Given the description of an element on the screen output the (x, y) to click on. 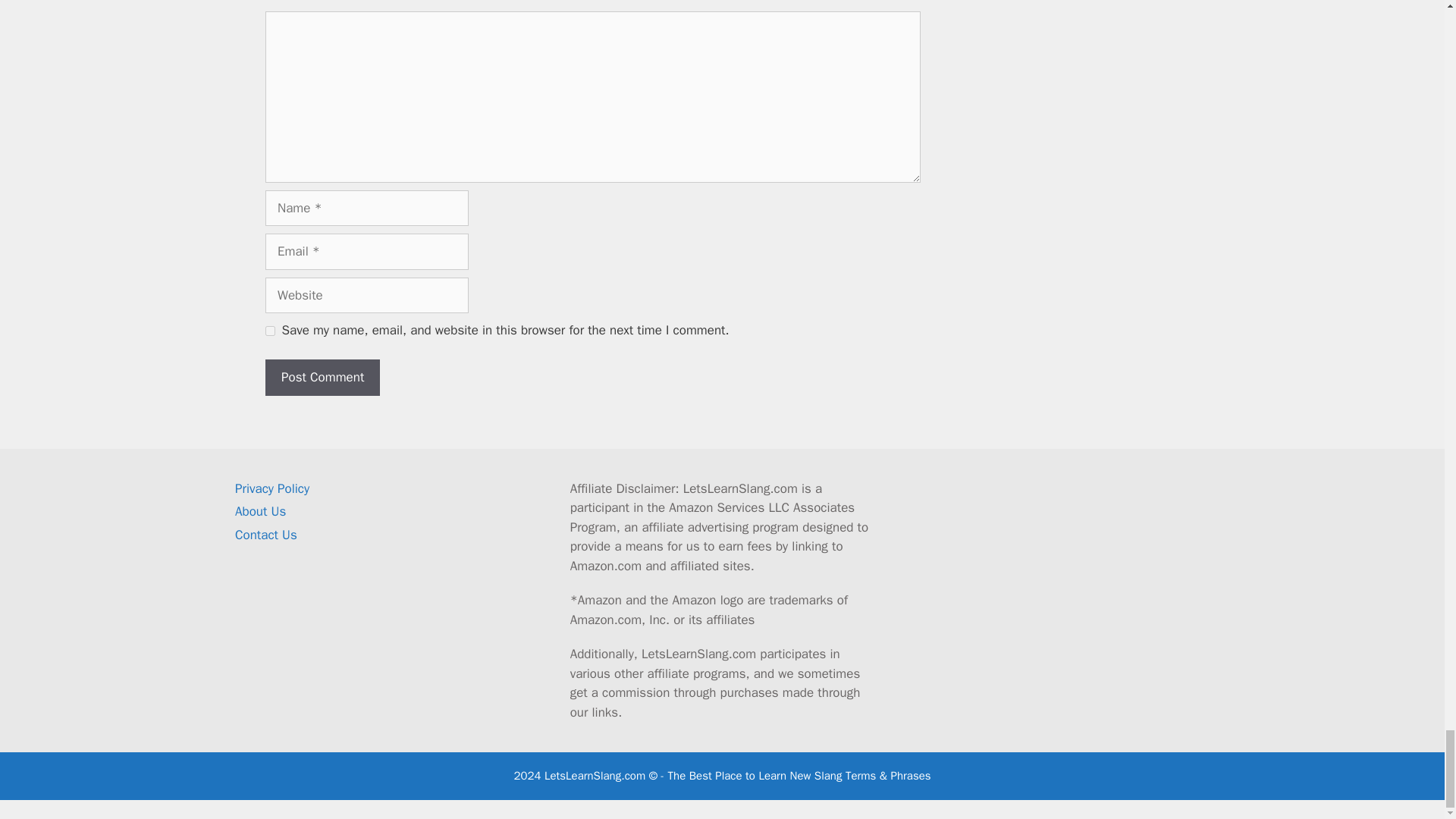
yes (269, 330)
Post Comment (322, 377)
